Given the description of an element on the screen output the (x, y) to click on. 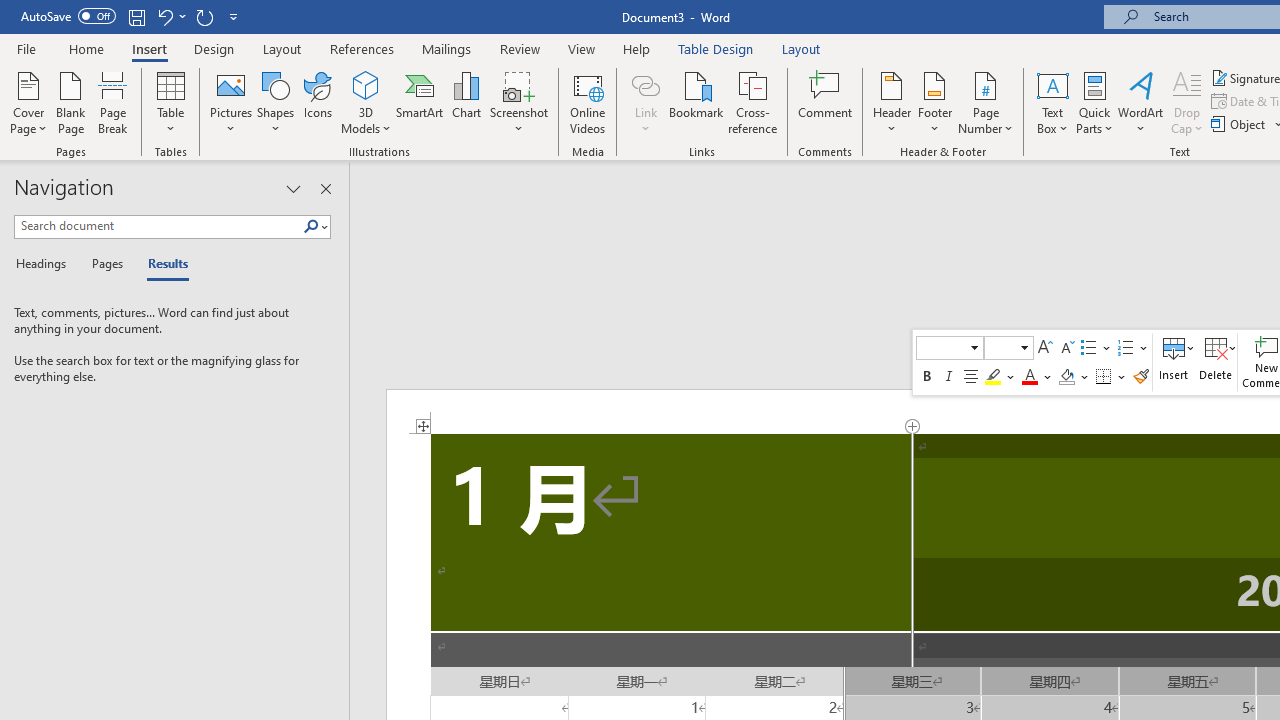
Shading (1074, 376)
Cover Page (28, 102)
Pictures (230, 102)
Online Videos... (588, 102)
Cross-reference... (752, 102)
Class: NetUIAnchor (1215, 361)
Screenshot (518, 102)
Drop Cap (1187, 102)
Undo Apply Quick Style (170, 15)
Shading RGB(0, 0, 0) (1066, 376)
